Given the description of an element on the screen output the (x, y) to click on. 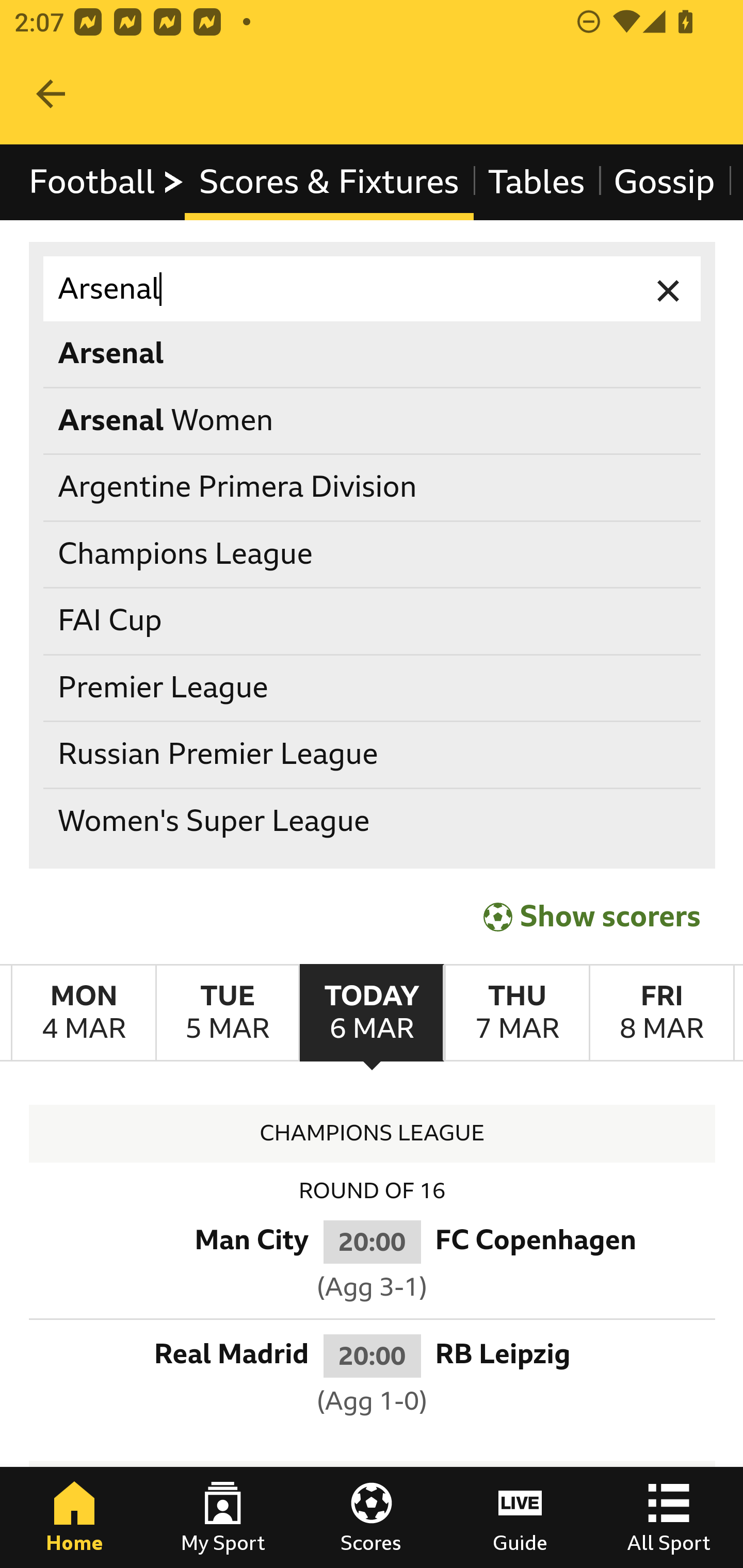
Navigate up (50, 93)
Football  (106, 181)
Scores & Fixtures (329, 181)
Tables (536, 181)
Gossip (664, 181)
Arsenal (372, 289)
Clear input (669, 289)
Arsenal Women Arsenal  Women (372, 419)
Argentine Primera Division (372, 488)
Champions League (372, 554)
FAI Cup (372, 620)
Premier League (372, 687)
Russian Premier League (372, 755)
Women's Super League (372, 821)
Show scorers (591, 916)
MondayMarch 4th Monday March 4th (83, 1012)
TuesdayMarch 5th Tuesday March 5th (227, 1012)
ThursdayMarch 7th Thursday March 7th (516, 1012)
FridayMarch 8th Friday March 8th (661, 1012)
My Sport (222, 1517)
Scores (371, 1517)
Guide (519, 1517)
All Sport (668, 1517)
